Given the description of an element on the screen output the (x, y) to click on. 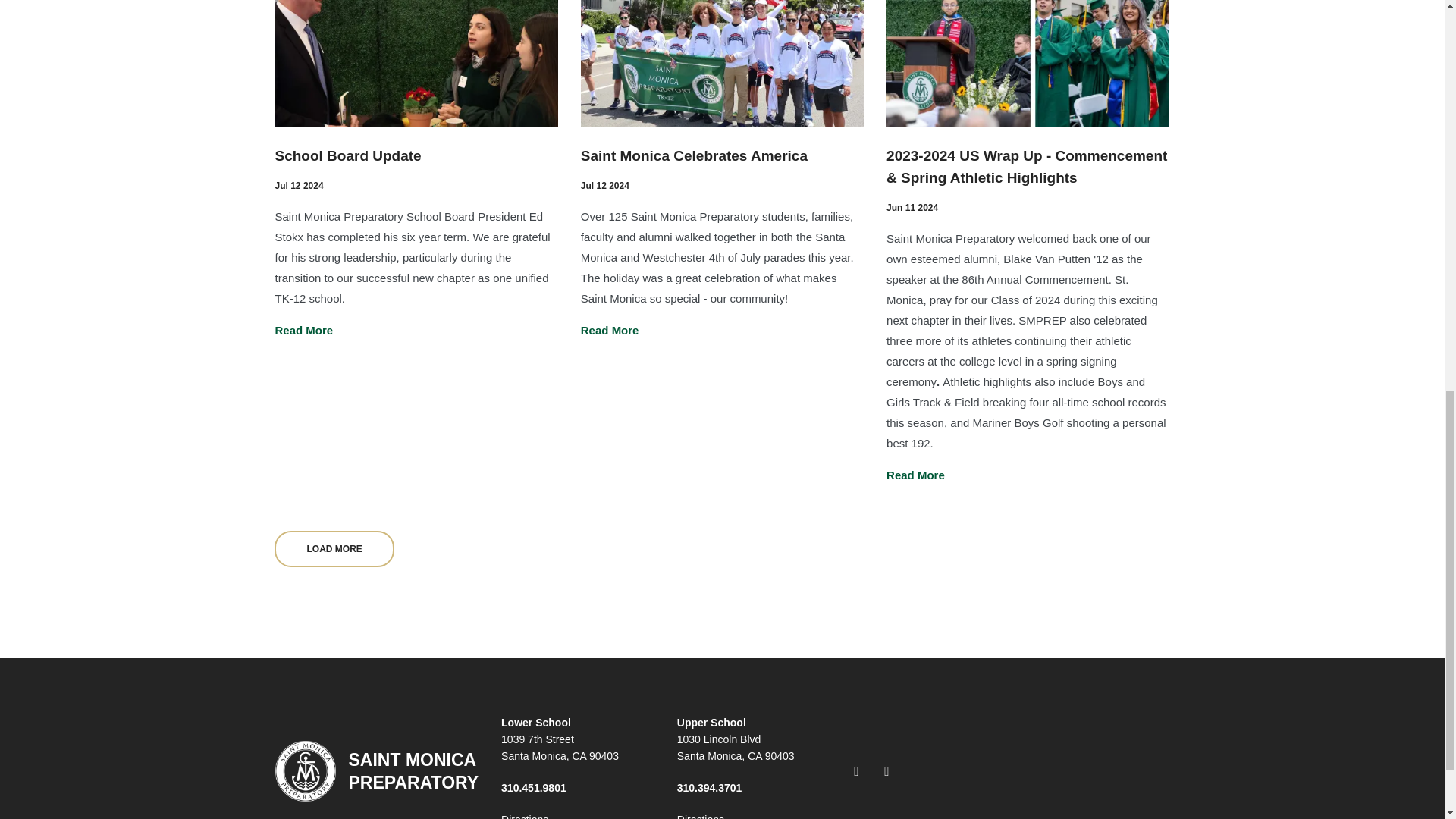
Mariners in the 4th of July parade (721, 63)
Ed Stokx with SMPREP students (416, 63)
commencement speaker and graduates (1027, 63)
